Given the description of an element on the screen output the (x, y) to click on. 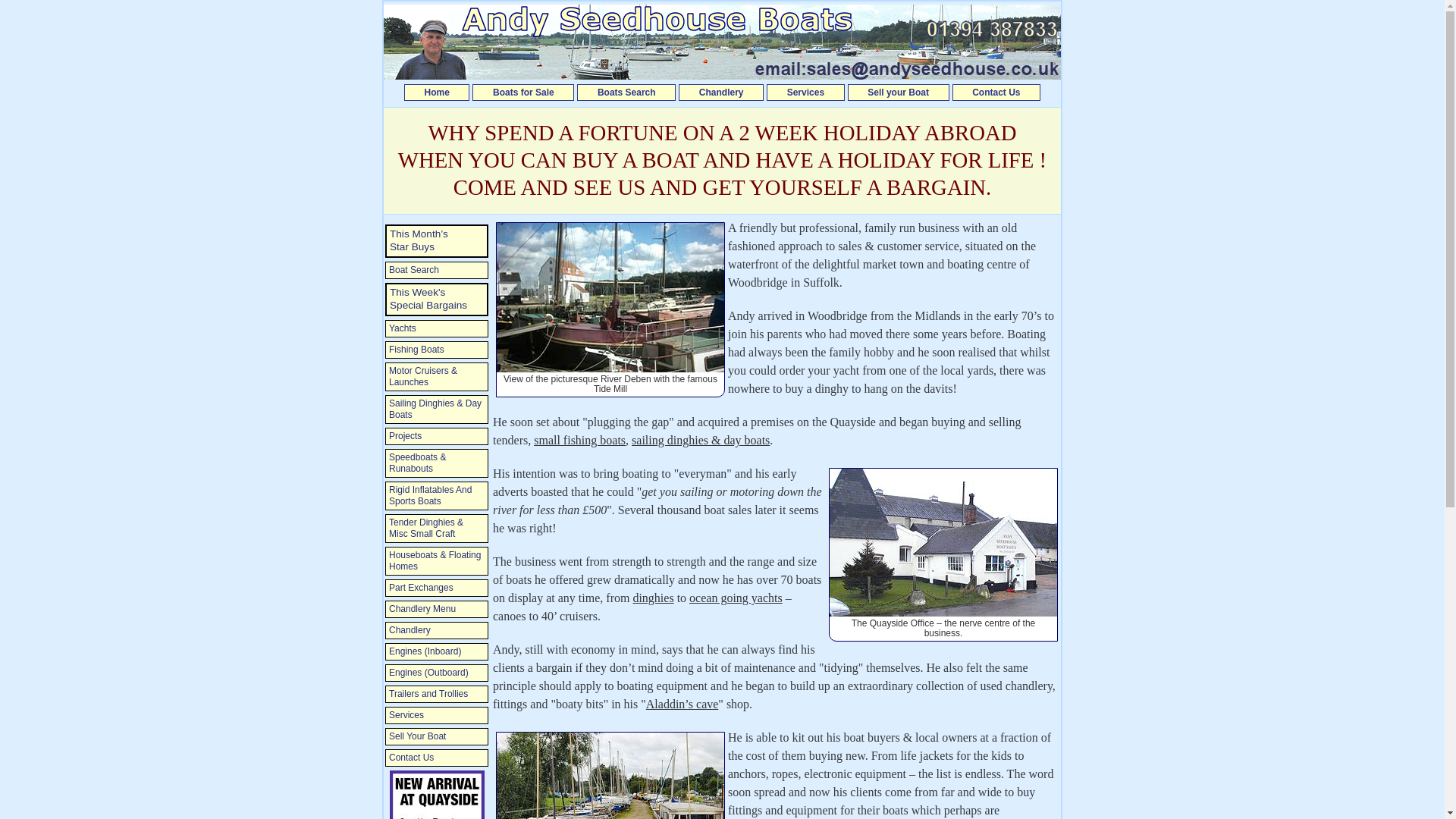
Our Services (805, 92)
Search for a boat (625, 92)
Contact Andy Seedhouse Boats (996, 92)
Fishing Boats (436, 349)
Home (437, 92)
Andy Seedhouse Boats Home page (437, 92)
Sell your Boat (898, 92)
Arrange for us to sell your boat for you (898, 92)
View This Week's Special Bargains (436, 299)
View boats we have for sale (522, 92)
Yachts (436, 328)
Chandlery (720, 92)
Boats for Sale (522, 92)
Contact Us (996, 92)
View our Chandlery (720, 92)
